Given the description of an element on the screen output the (x, y) to click on. 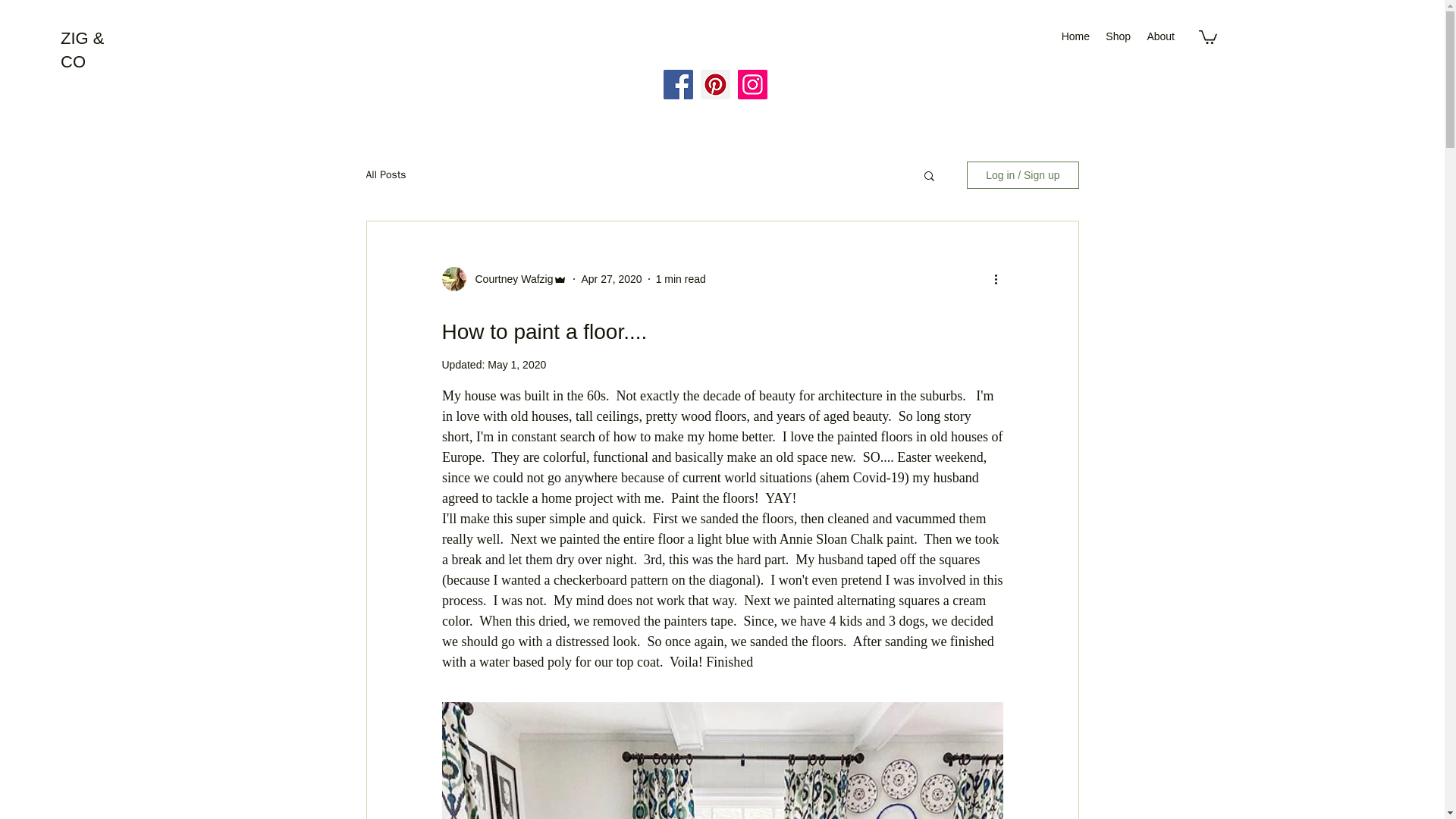
Apr 27, 2020 (611, 278)
1 min read (681, 278)
Shop (1117, 36)
Courtney Wafzig (509, 279)
About (1160, 36)
All Posts (385, 174)
Home (1074, 36)
May 1, 2020 (516, 364)
